Given the description of an element on the screen output the (x, y) to click on. 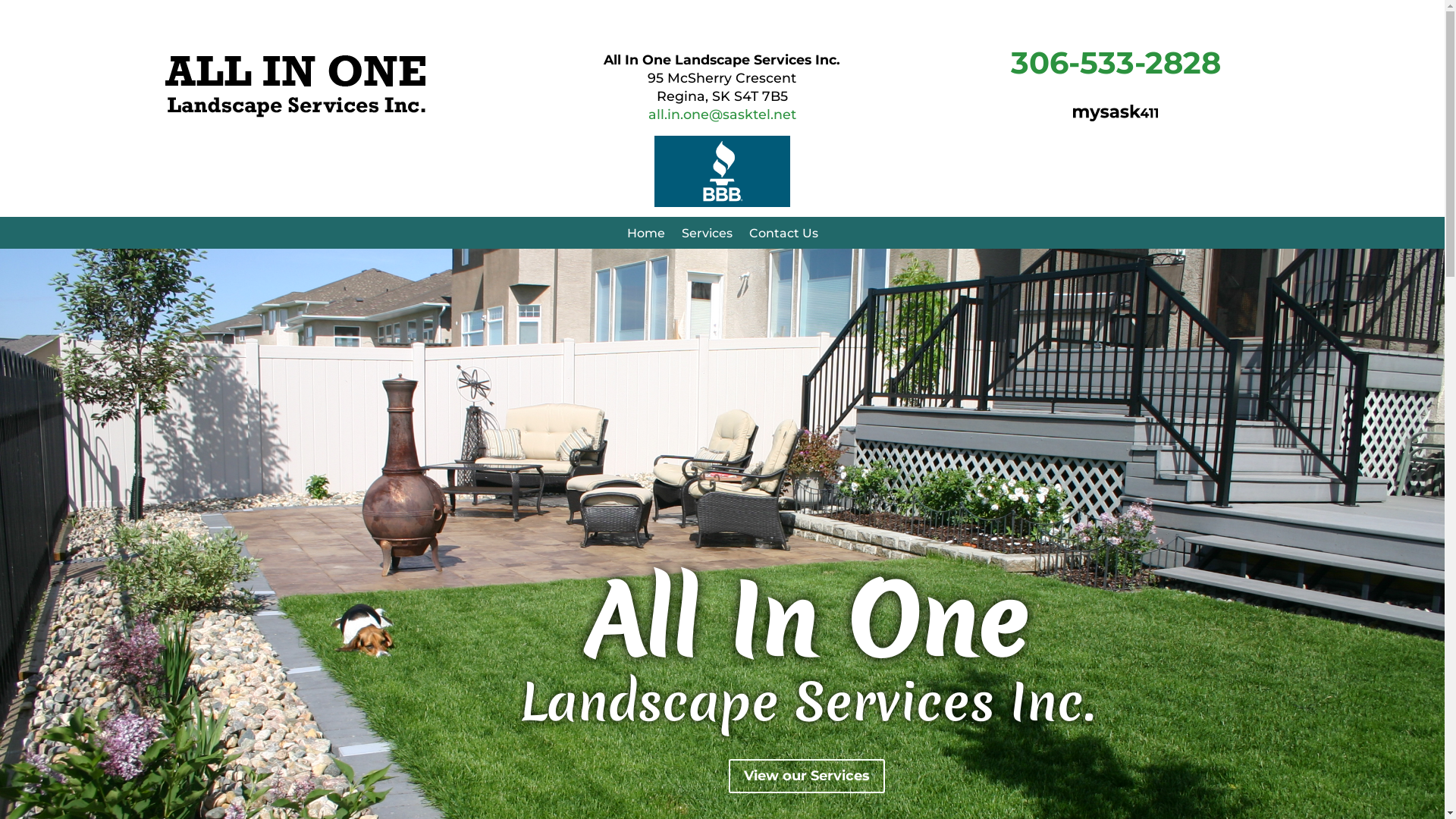
Services Element type: text (705, 236)
Home Element type: text (645, 236)
Contact Us Element type: text (783, 236)
all.in.one@sasktel.net Element type: text (722, 114)
All In One Element type: text (806, 621)
306-533-2828 Element type: text (1115, 62)
View our Services Element type: text (806, 776)
